Given the description of an element on the screen output the (x, y) to click on. 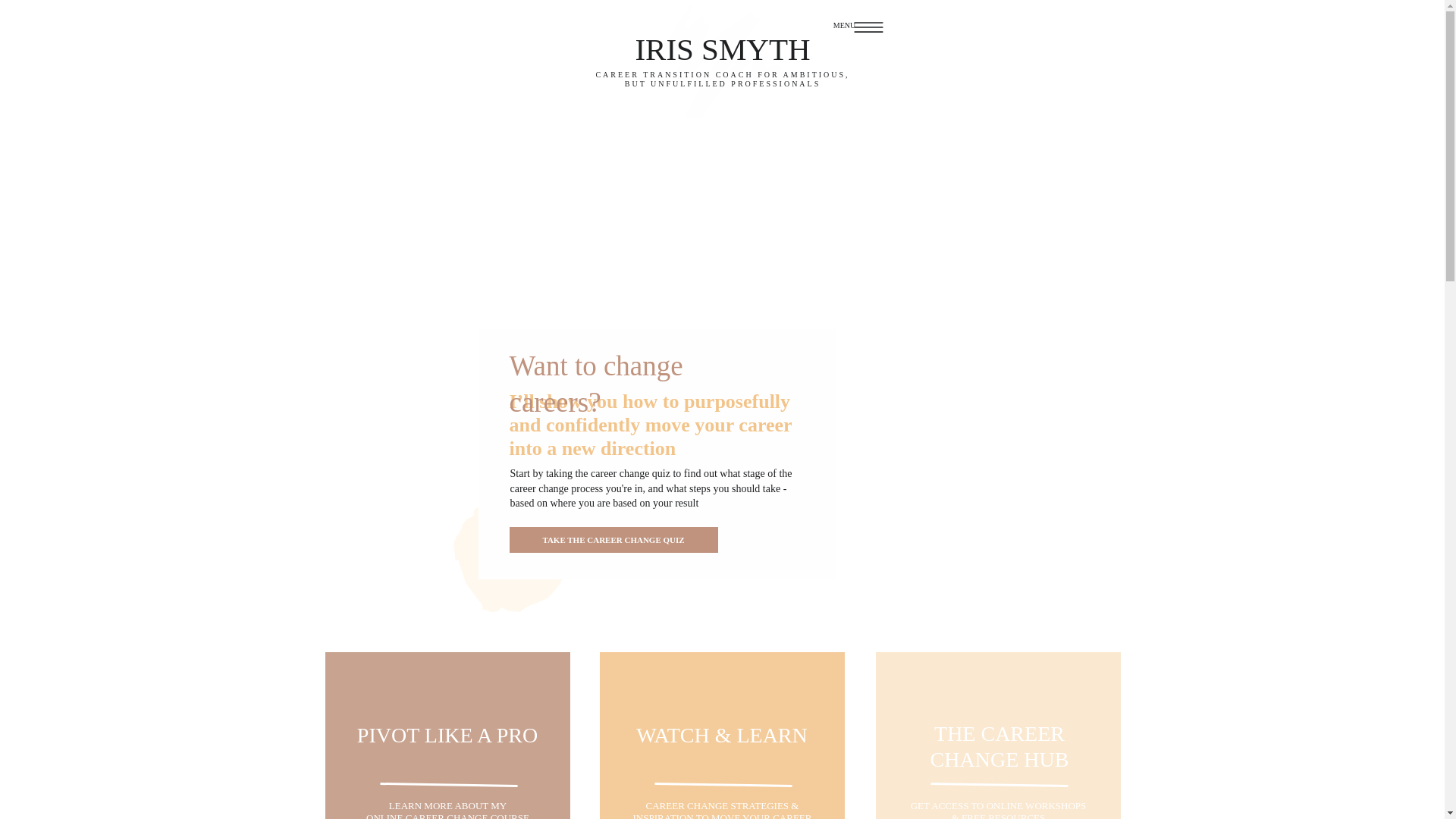
MENU (844, 27)
TAKE THE CAREER CHANGE QUIZ (612, 540)
PIVOT LIKE A PRO (447, 744)
IRIS SMYTH (448, 809)
THE CAREER CHANGE HUB (721, 47)
